Given the description of an element on the screen output the (x, y) to click on. 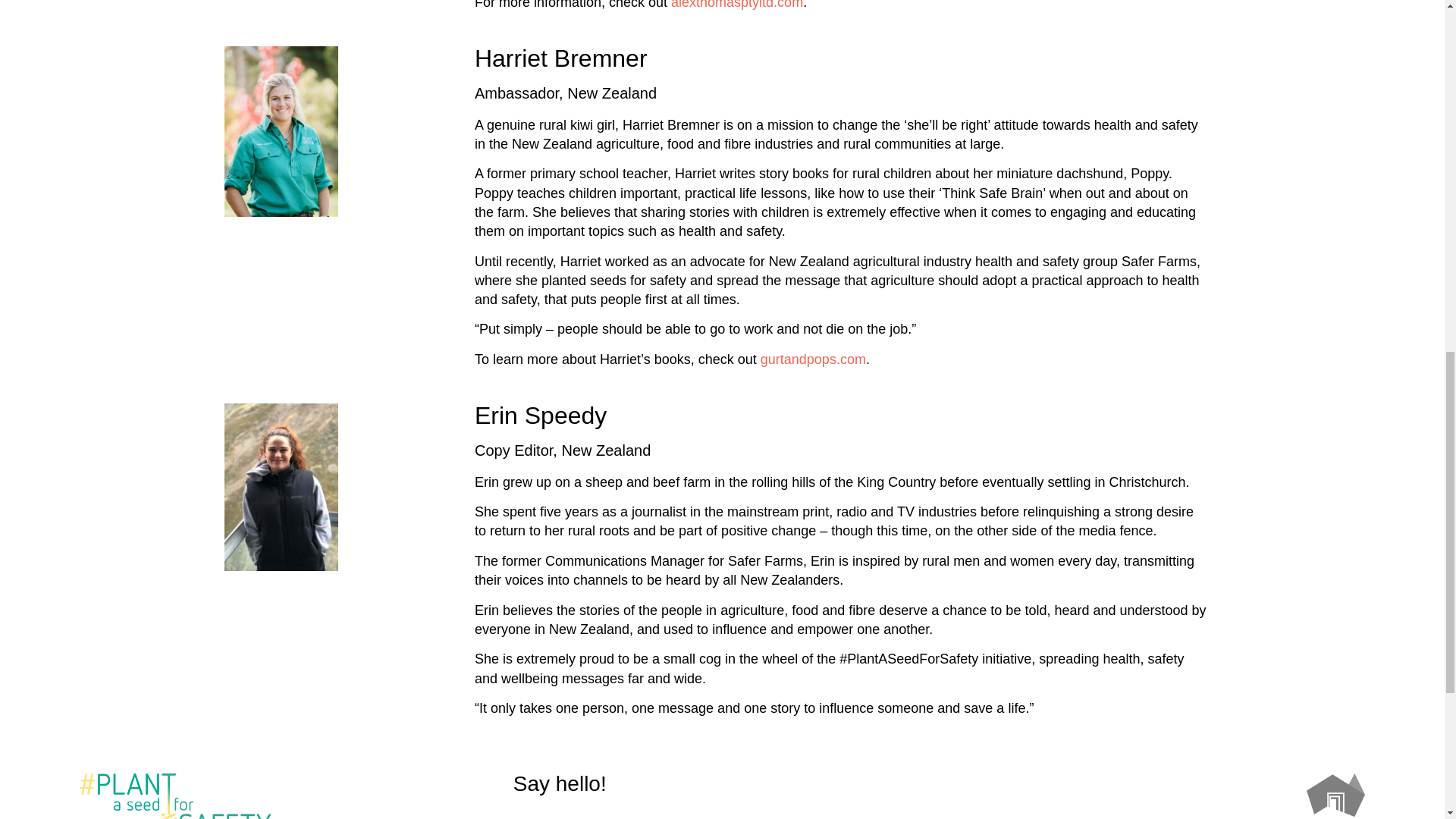
alexthomasptyltd.com (737, 4)
gurtandpops.com (813, 359)
